Given the description of an element on the screen output the (x, y) to click on. 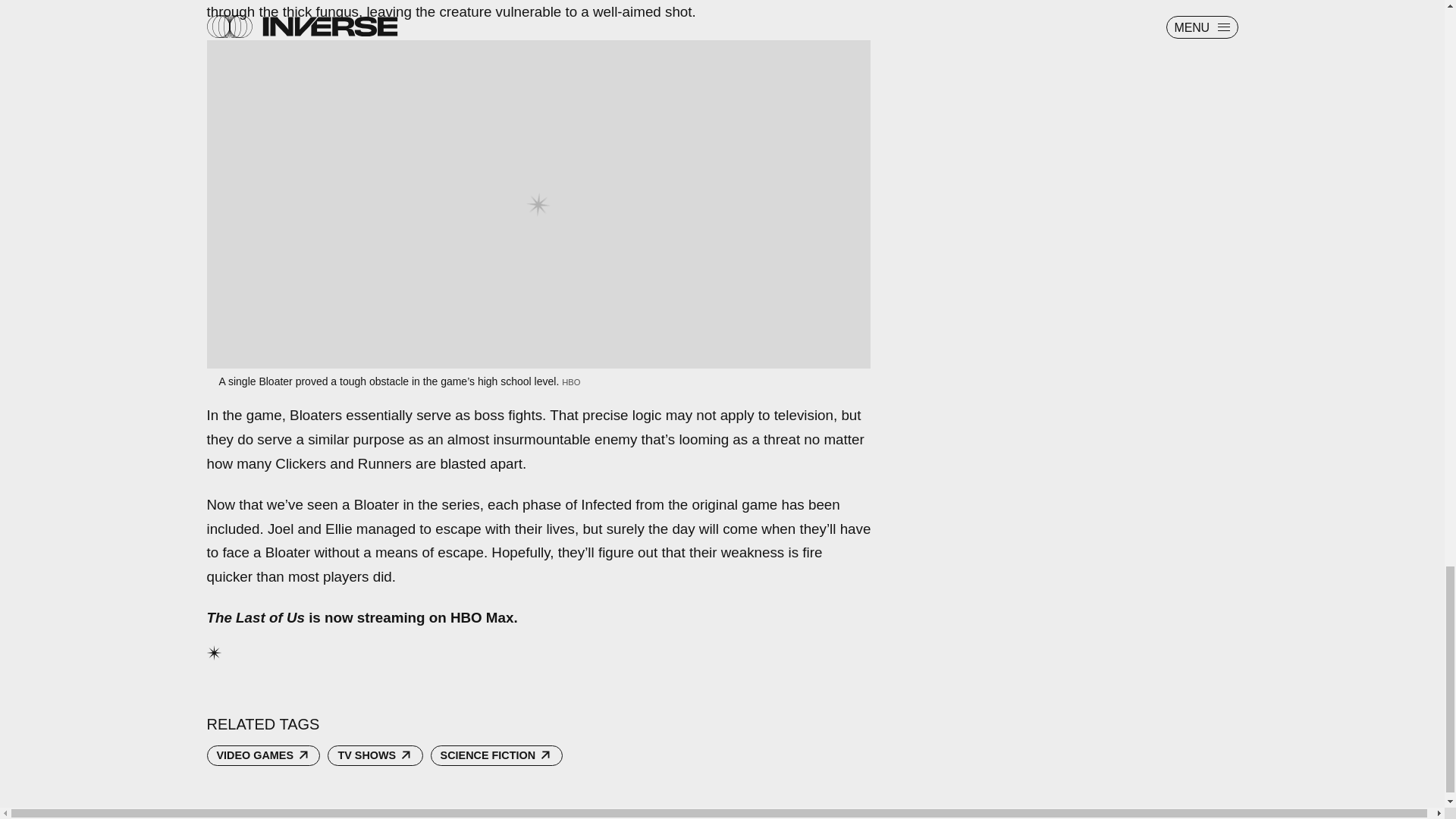
VIDEO GAMES (263, 754)
TV SHOWS (374, 754)
SCIENCE FICTION (496, 754)
